Given the description of an element on the screen output the (x, y) to click on. 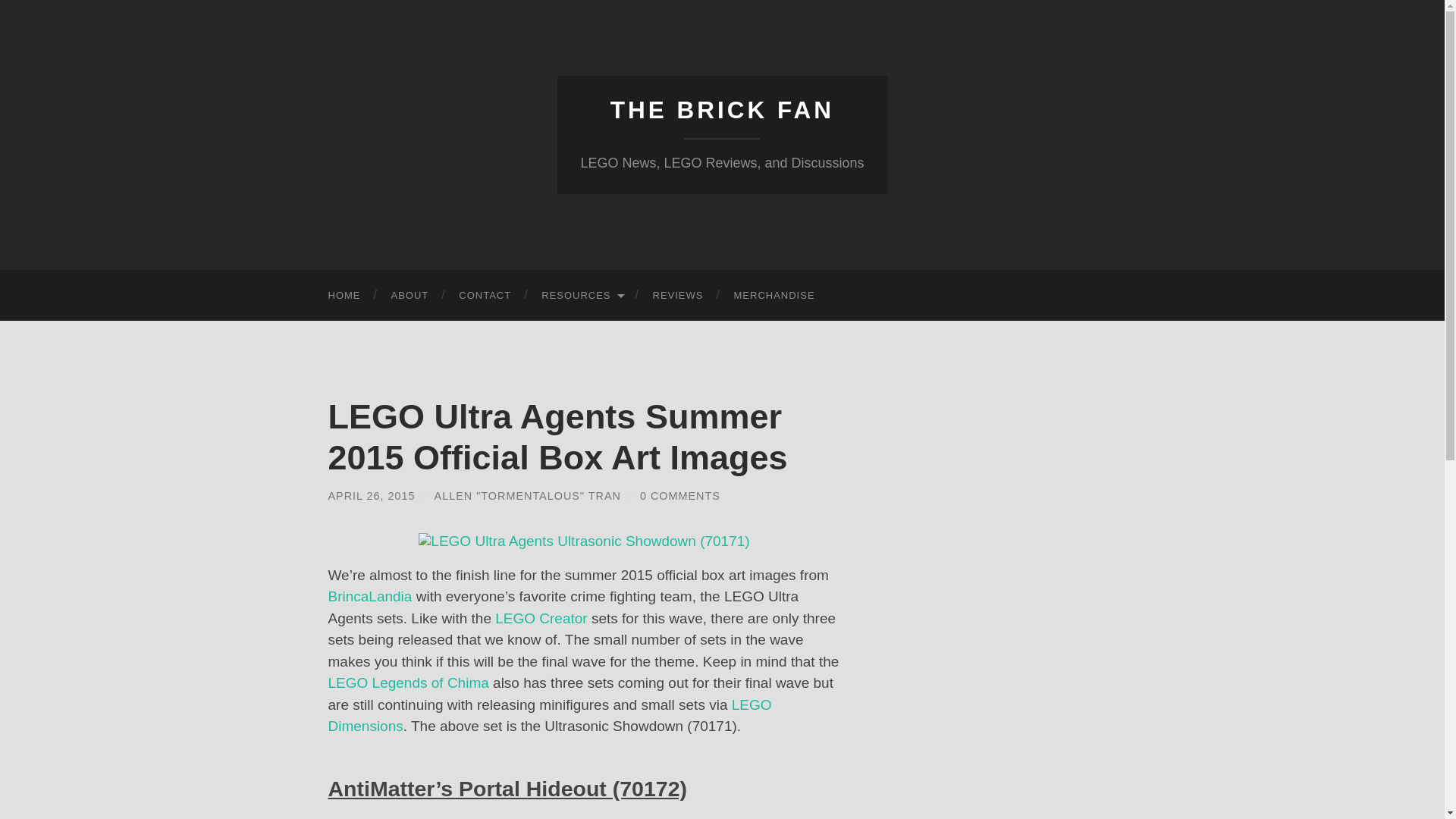
THE BRICK FAN (722, 109)
REVIEWS (678, 295)
HOME (344, 295)
RESOURCES (581, 295)
CONTACT (484, 295)
APRIL 26, 2015 (370, 495)
ALLEN "TORMENTALOUS" TRAN (527, 495)
LEGO Dimensions (549, 715)
0 COMMENTS (680, 495)
ABOUT (409, 295)
